Given the description of an element on the screen output the (x, y) to click on. 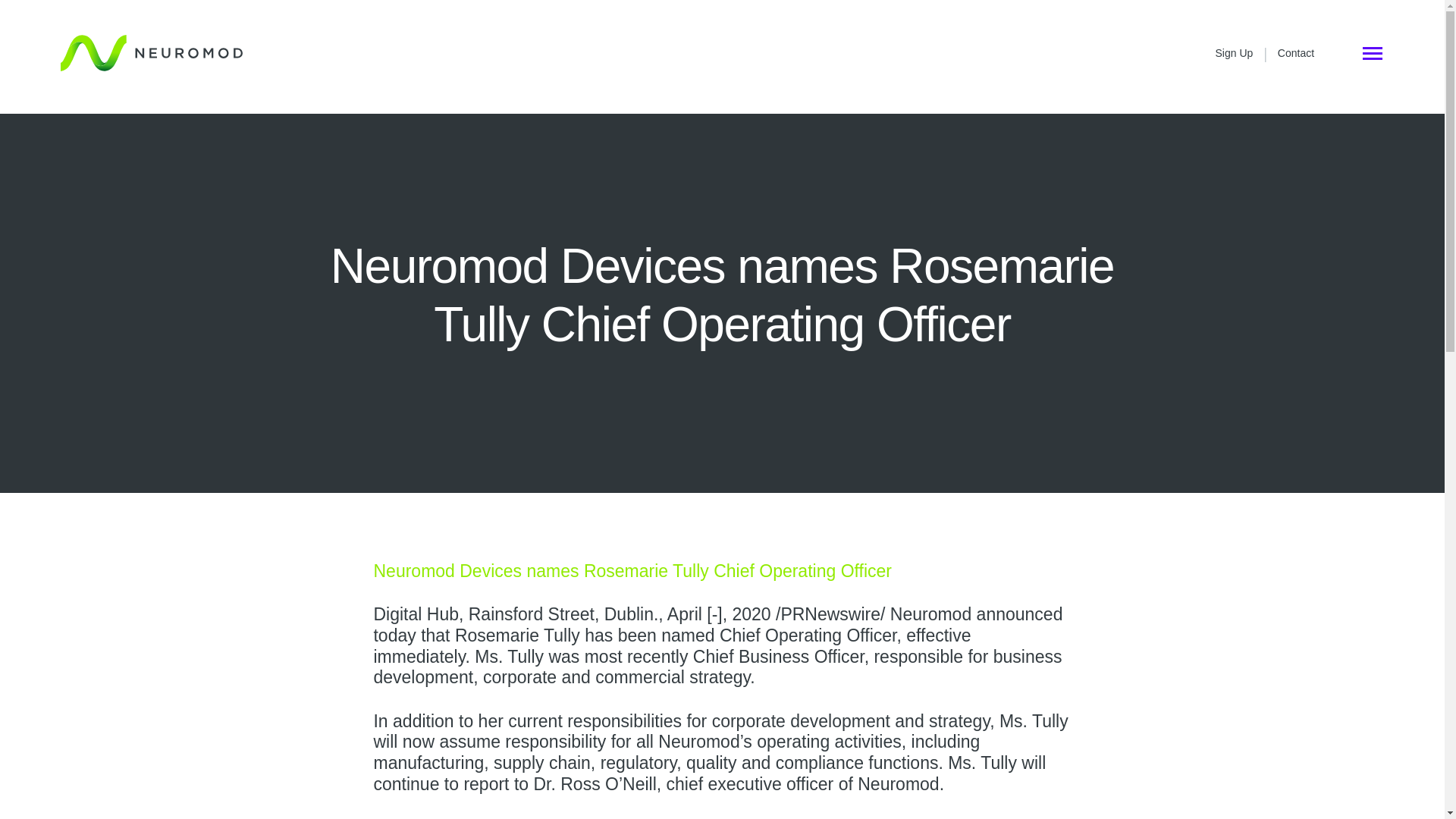
Neuromod (152, 52)
Contact (1296, 52)
Sign Up (1234, 52)
